Given the description of an element on the screen output the (x, y) to click on. 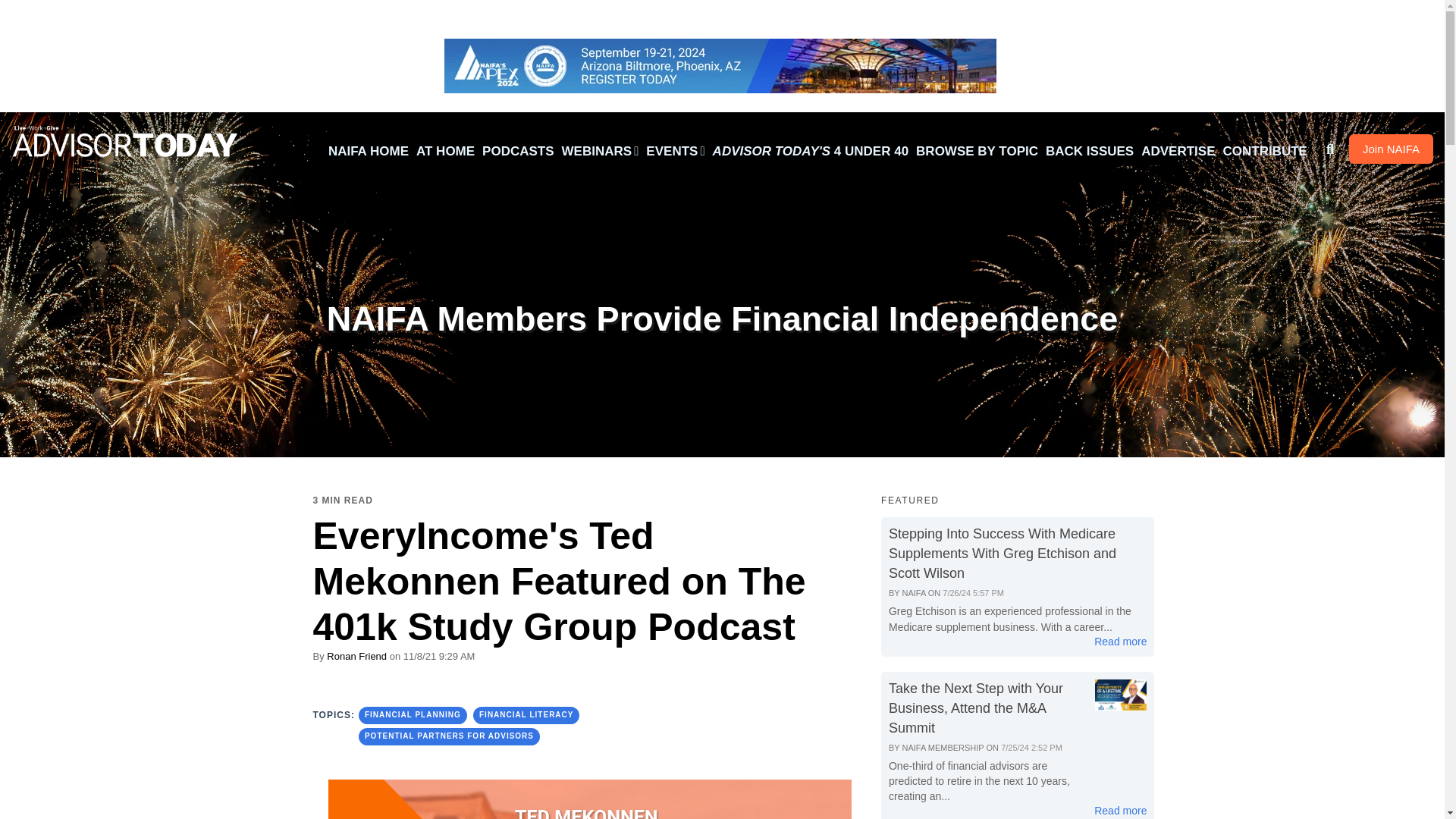
ADVERTISE (1177, 151)
Join NAIFA (1390, 148)
AT HOME (445, 151)
POTENTIAL PARTNERS FOR ADVISORS (449, 736)
WEBINARS (600, 151)
ADVISOR TODAY'S 4 UNDER 40 (810, 151)
BROWSE BY TOPIC (977, 151)
CONTRIBUTE (1264, 151)
BACK ISSUES (1089, 151)
NAIFA HOME (368, 151)
EVENTS (674, 151)
FINANCIAL LITERACY (526, 714)
PODCASTS (518, 151)
